Given the description of an element on the screen output the (x, y) to click on. 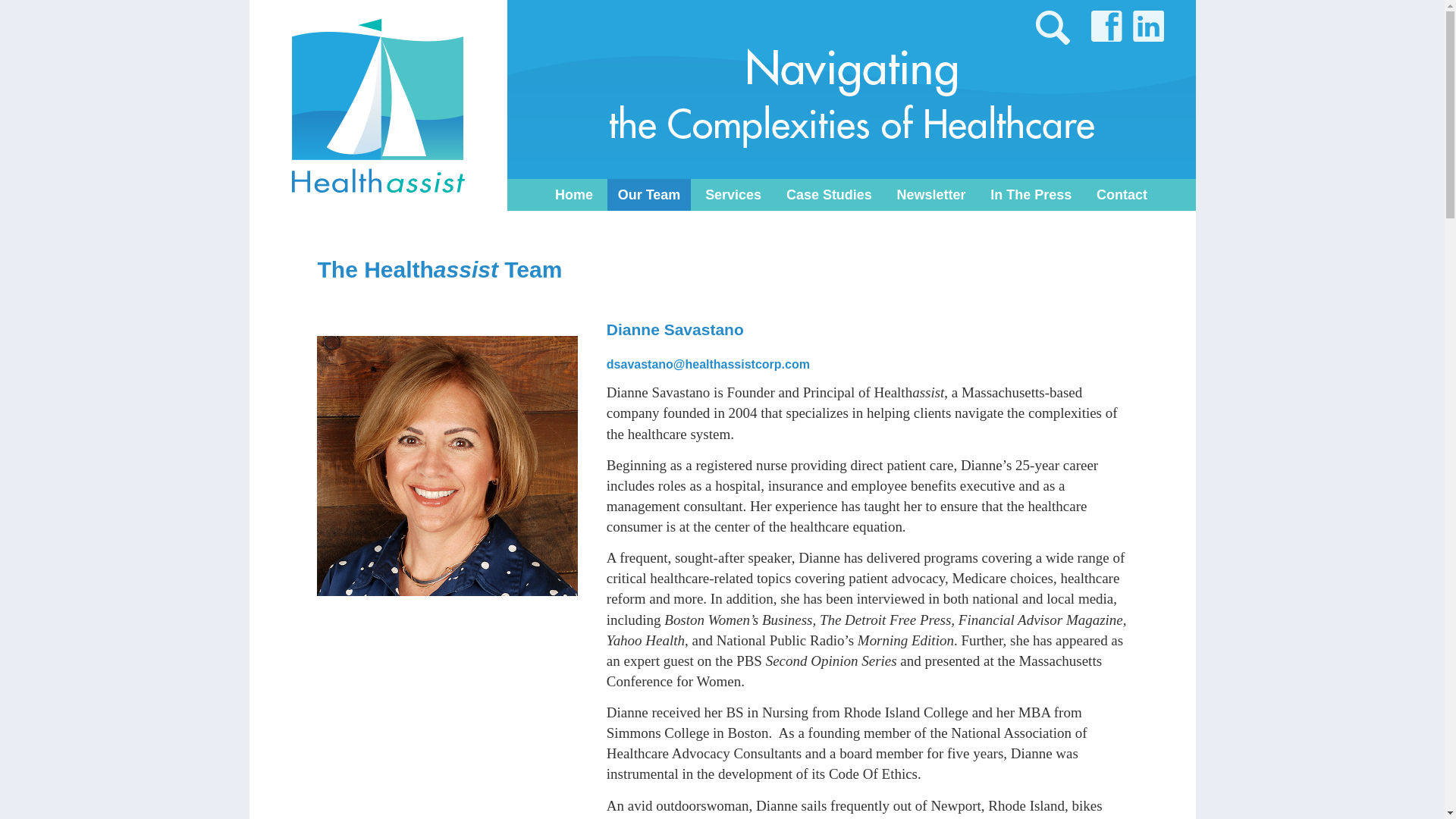
Search (19, 11)
Our Team (649, 194)
In The Press (1030, 194)
Newsletter (931, 194)
Services (732, 194)
Case Studies (829, 194)
Home (573, 194)
Contact (1121, 194)
